Given the description of an element on the screen output the (x, y) to click on. 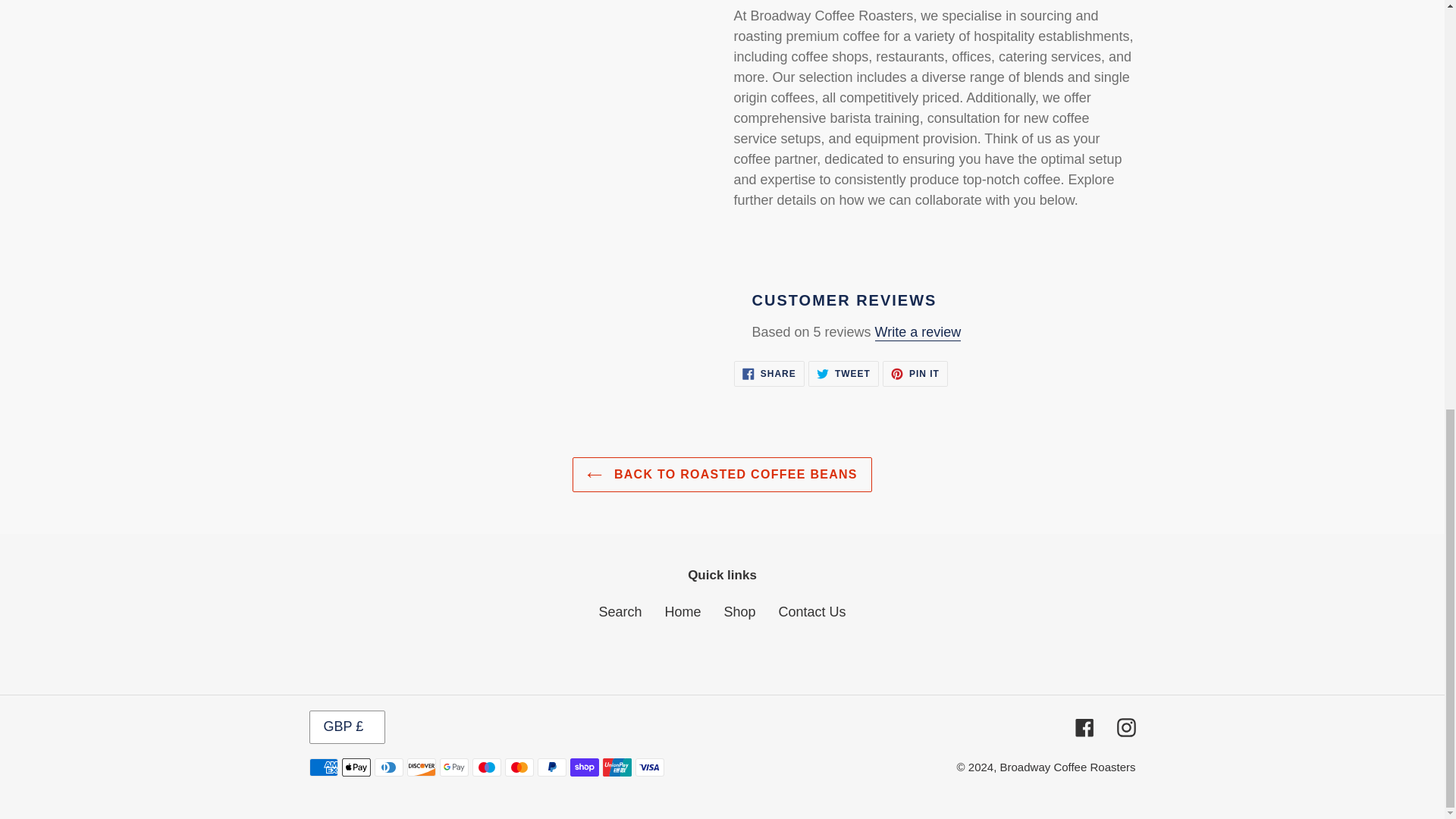
Write a review (917, 332)
Search (769, 373)
Home (843, 373)
Shop (620, 611)
BACK TO ROASTED COFFEE BEANS (681, 611)
